Given the description of an element on the screen output the (x, y) to click on. 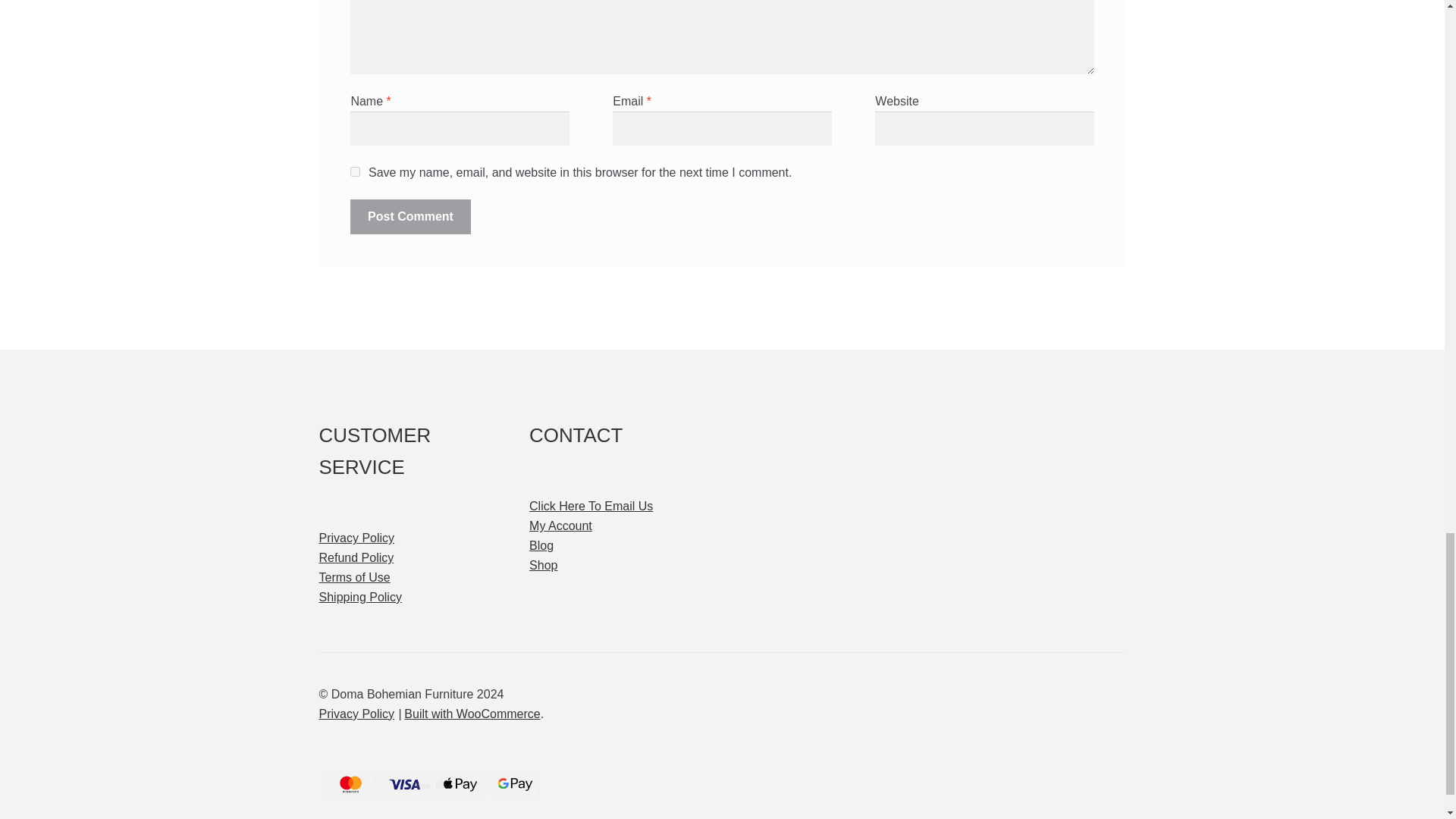
Privacy Policy (356, 713)
Built with WooCommerce (472, 713)
Click Here To Email Us (590, 505)
Shipping Policy (359, 596)
Blog (541, 545)
My Account (560, 525)
yes (354, 171)
WooCommerce - The Best eCommerce Platform for WordPress (472, 713)
Shop (543, 564)
Refund Policy (356, 557)
Terms of Use (354, 576)
Post Comment (410, 216)
Post Comment (410, 216)
Privacy Policy (356, 537)
